Given the description of an element on the screen output the (x, y) to click on. 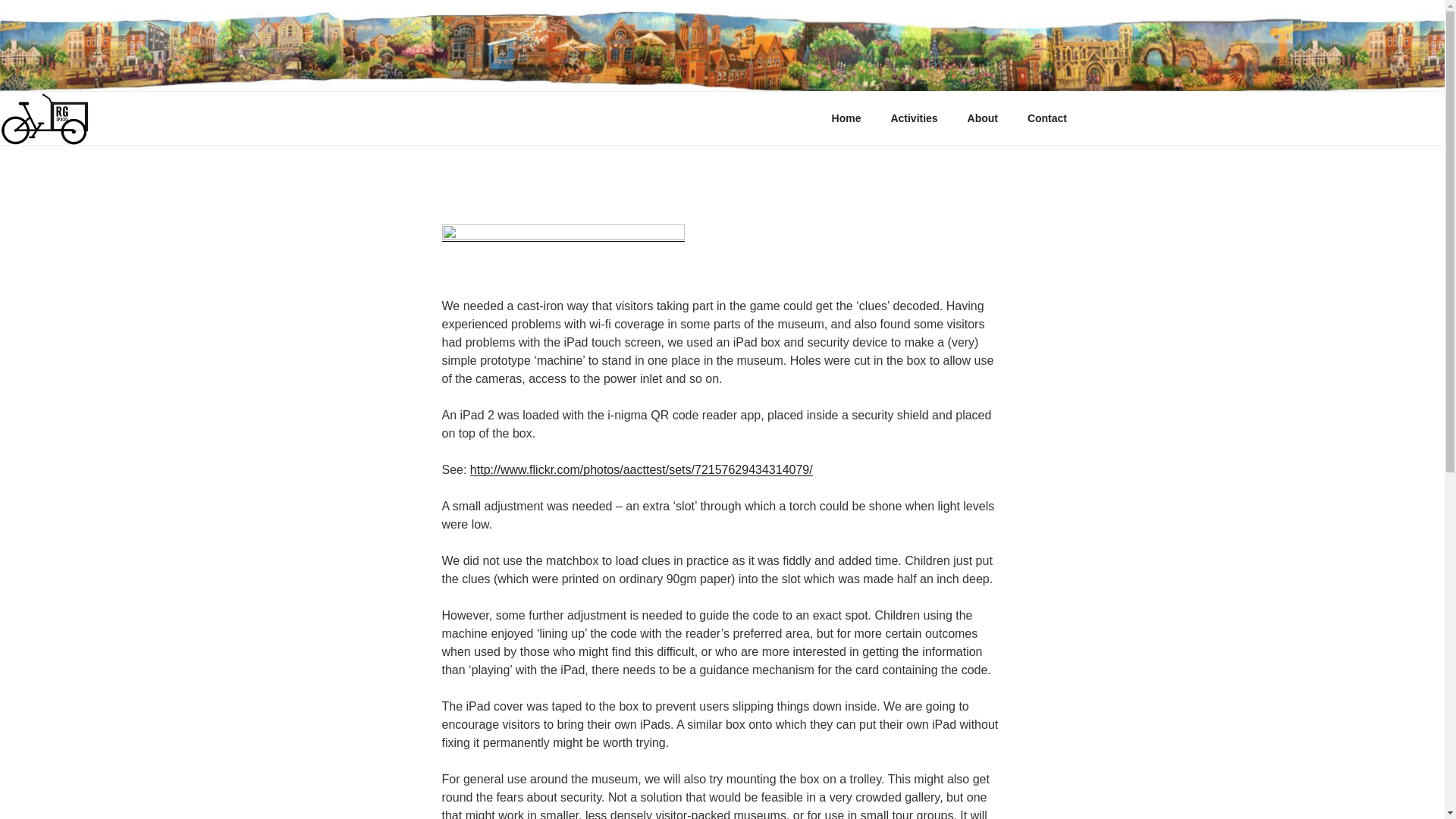
Activities (913, 118)
Home (846, 118)
Contact (1046, 118)
About (981, 118)
